Given the description of an element on the screen output the (x, y) to click on. 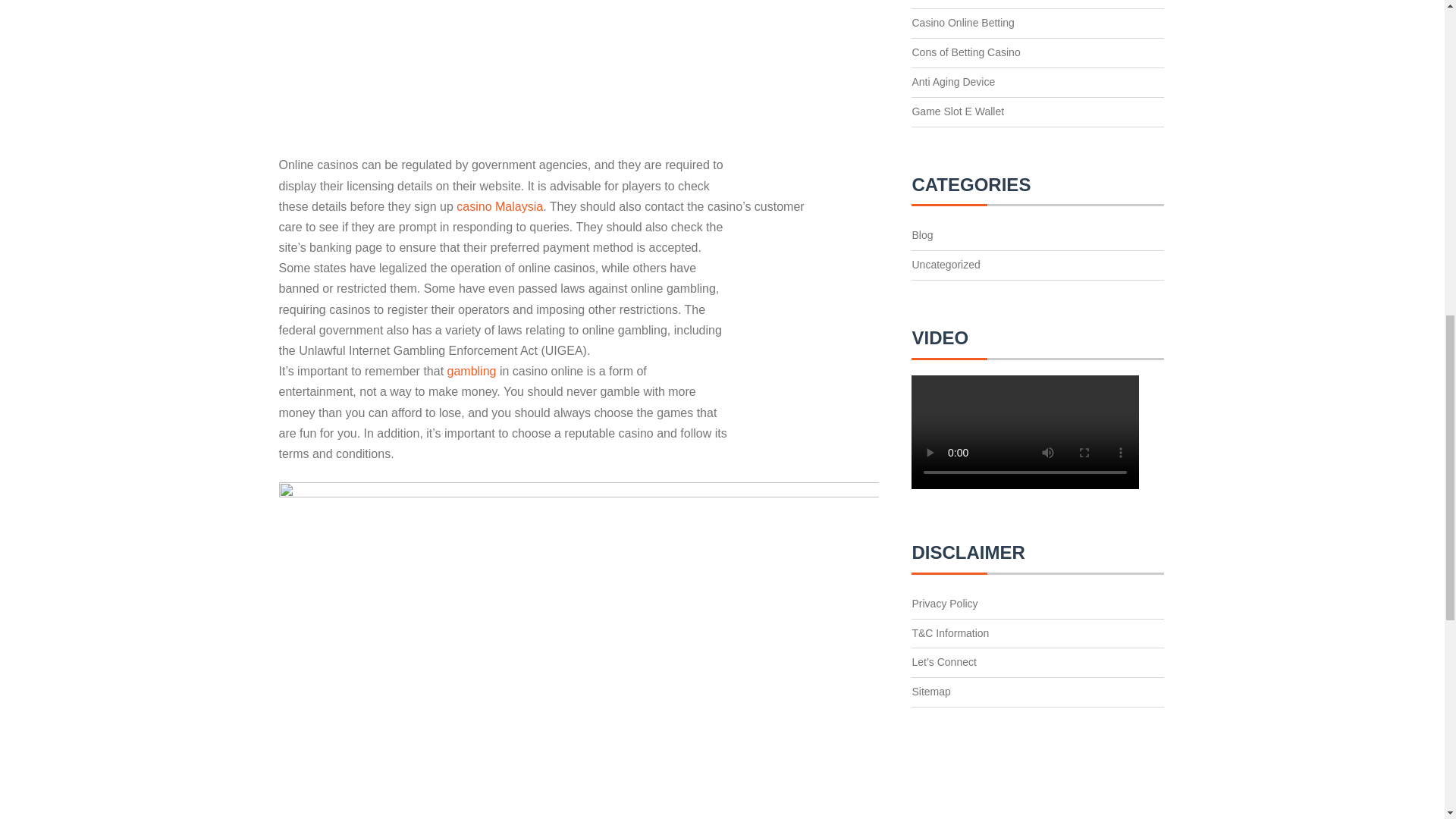
Privacy Policy (943, 603)
Sitemap (930, 691)
Uncategorized (945, 264)
Cons of Betting Casino (965, 51)
Blog (922, 234)
gambling (472, 370)
Game Slot E Wallet (957, 111)
Anti Aging Device (952, 81)
casino Malaysia (500, 205)
Casino Online Betting (962, 22)
